Given the description of an element on the screen output the (x, y) to click on. 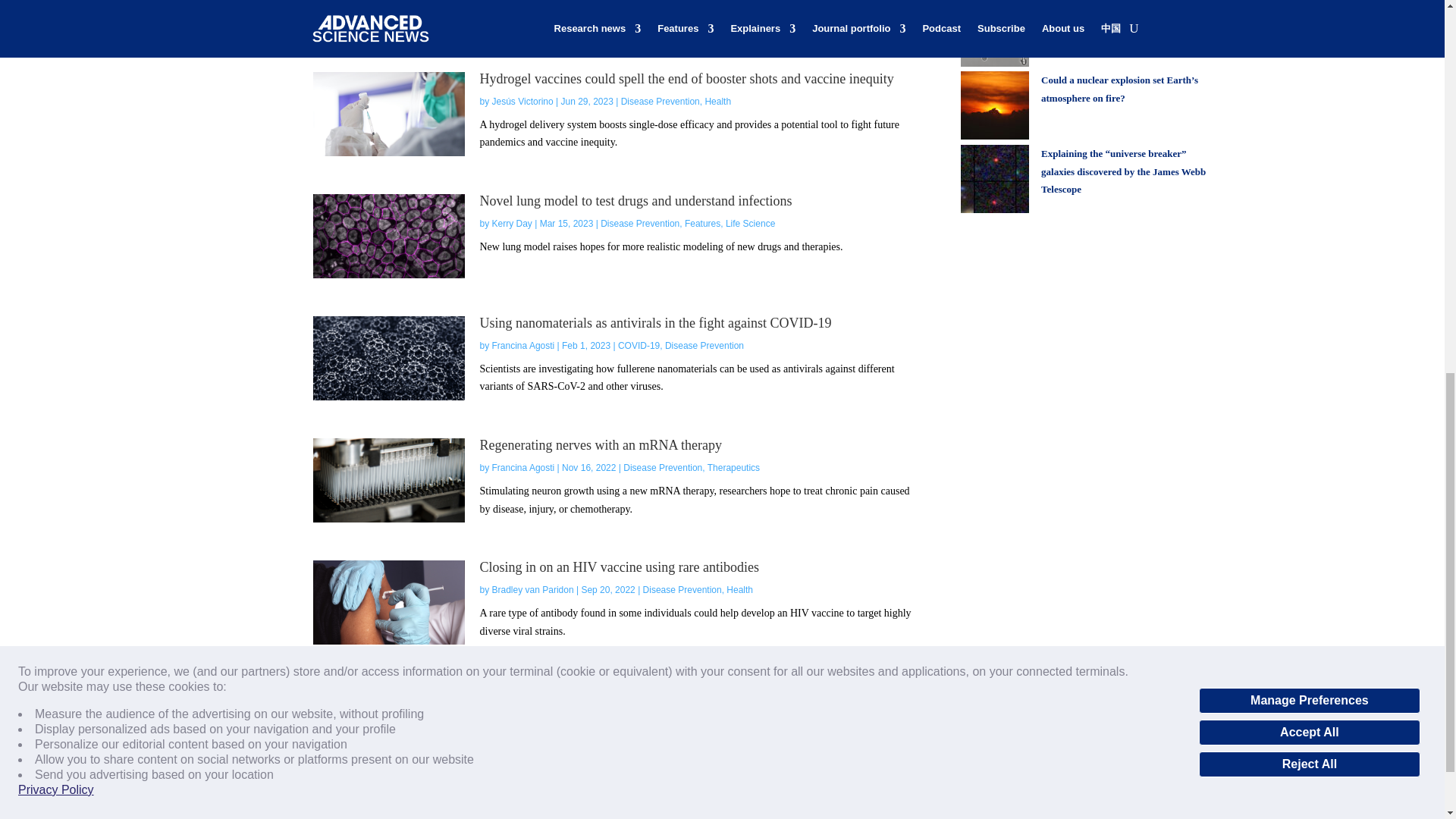
Posts by Francina Agosti (523, 467)
Posts by Francina Agosti (523, 345)
Posts by Kerry Day (512, 223)
Privacy Policy (55, 46)
Posts by Bradley van Paridon (532, 589)
Reject All (1309, 20)
